Given the description of an element on the screen output the (x, y) to click on. 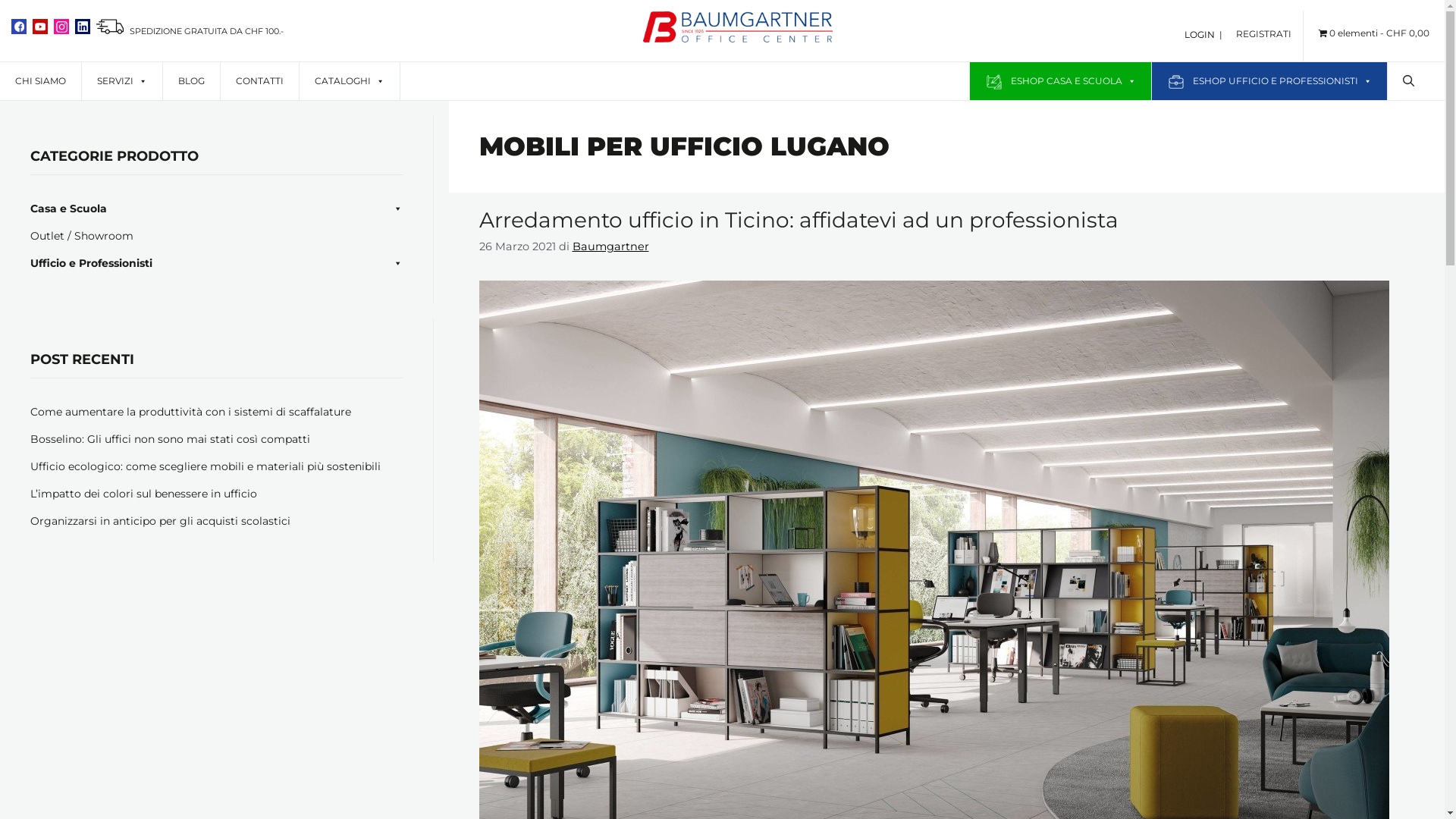
ESHOP UFFICIO E PROFESSIONISTI Element type: text (1268, 81)
BLOG Element type: text (191, 81)
Ufficio e Professionisti Element type: text (91, 262)
LOGIN Element type: text (1199, 34)
0 elementiCHF 0,00 Element type: text (1373, 32)
ESHOP CASA E SCUOLA Element type: text (1060, 81)
CHI SIAMO Element type: text (40, 81)
CONTATTI Element type: text (259, 81)
Casa e Scuola Element type: text (68, 208)
REGISTRATI Element type: text (1269, 25)
Baumgartner Element type: text (609, 246)
Shop Baumgartner Element type: hover (737, 28)
Outlet / Showroom Element type: text (81, 235)
 SPEDIZIONE GRATUITA DA CHF 100.- Element type: text (189, 30)
Organizzarsi in anticipo per gli acquisti scolastici Element type: text (160, 520)
CATALOGHI Element type: text (349, 81)
SERVIZI Element type: text (121, 81)
Shop Baumgartner Element type: hover (737, 37)
